Given the description of an element on the screen output the (x, y) to click on. 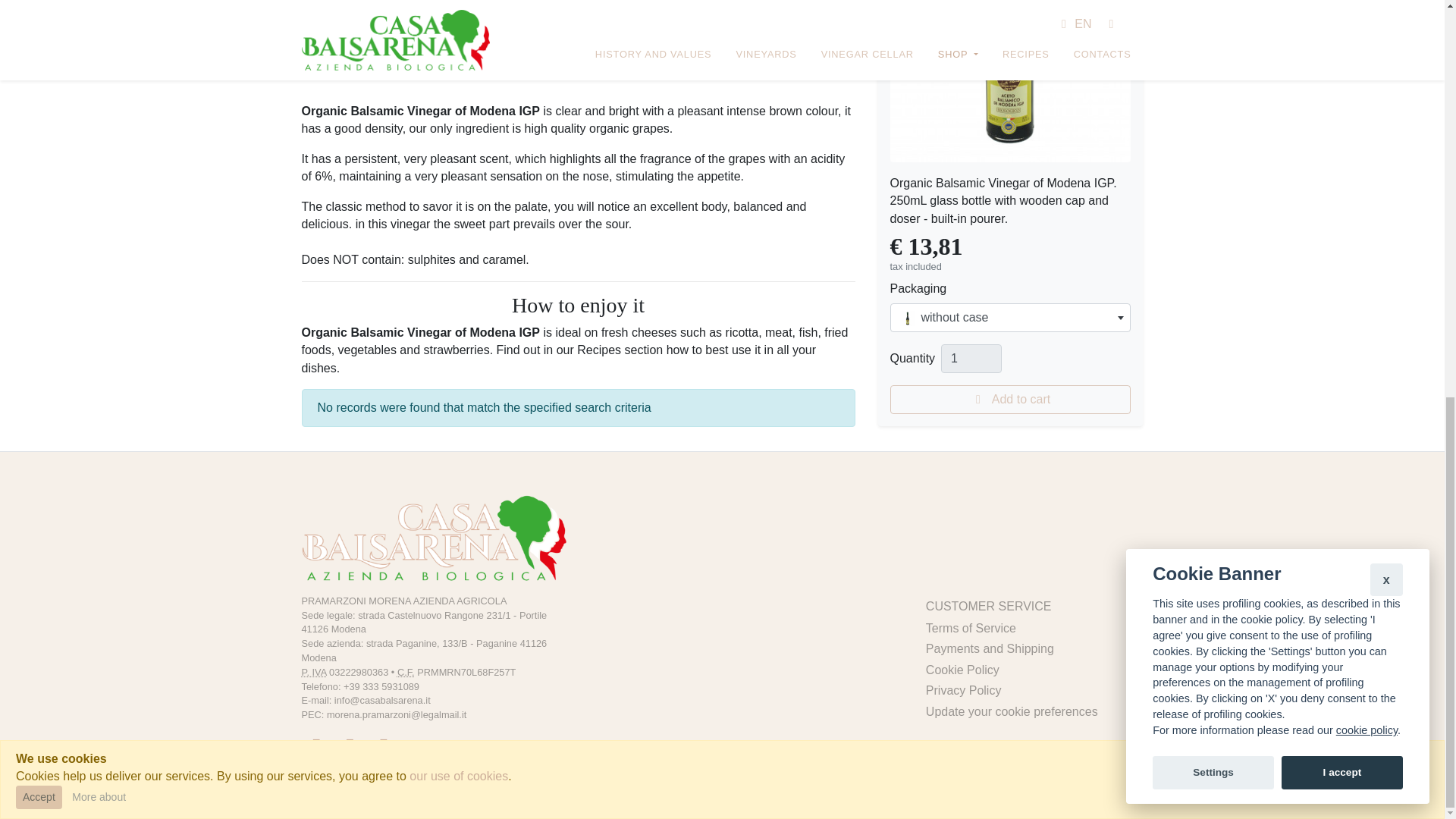
Cookie Policy (1034, 671)
Codice Fiscale (405, 672)
Technical data sheet of Moden PGI balsamic vinegar (415, 19)
Terms of Service (1034, 629)
IDENTITY CARD (415, 19)
Payments and Shipping (1034, 649)
Update your cookie preferences (1034, 712)
Add to cart (1010, 11)
CUSTOMER SERVICE (1034, 606)
Privacy Policy (1034, 691)
